Given the description of an element on the screen output the (x, y) to click on. 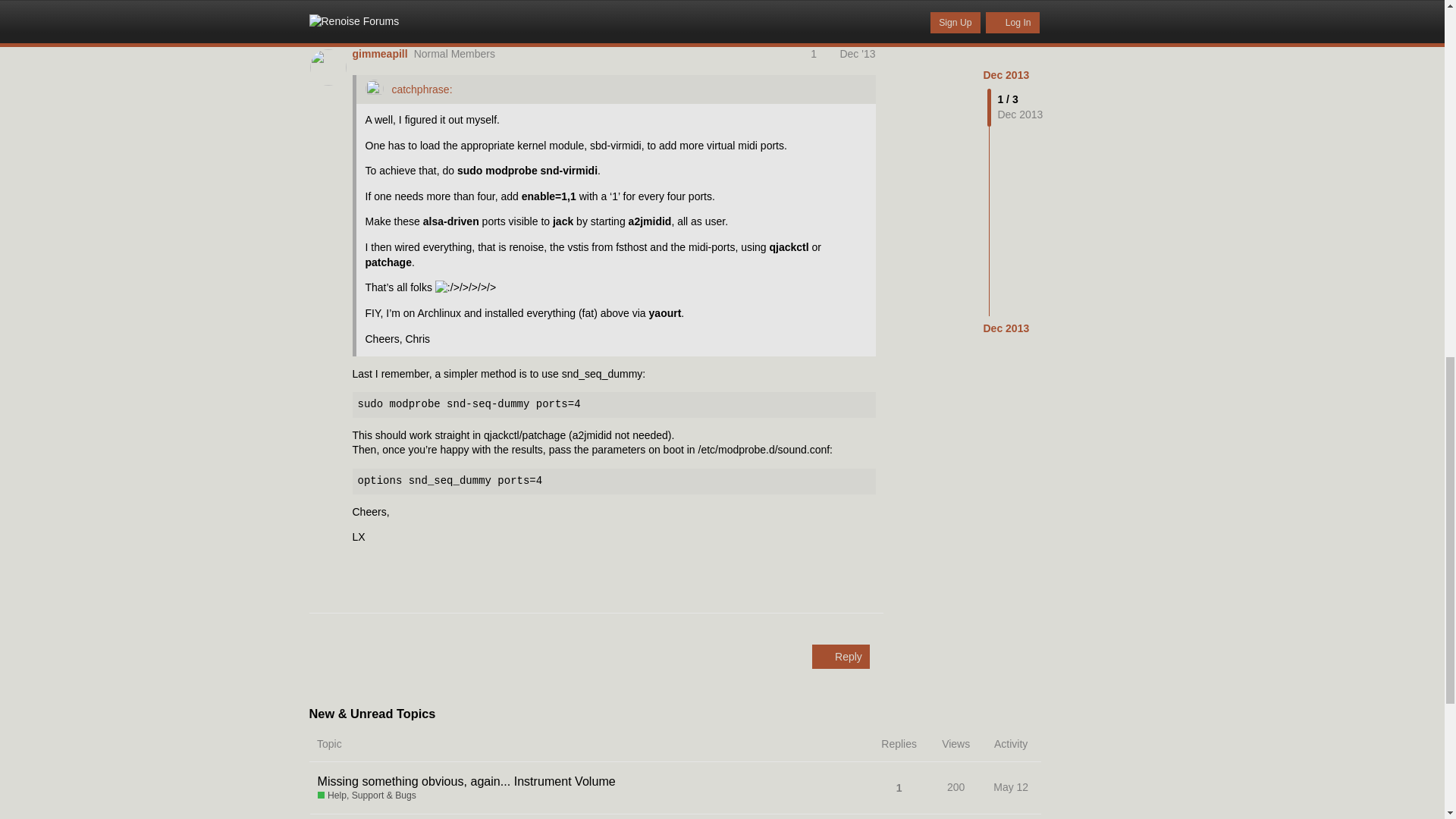
Dec '13 (857, 53)
1 Reply (376, 11)
1 (820, 53)
gimmeapill (379, 54)
